Given the description of an element on the screen output the (x, y) to click on. 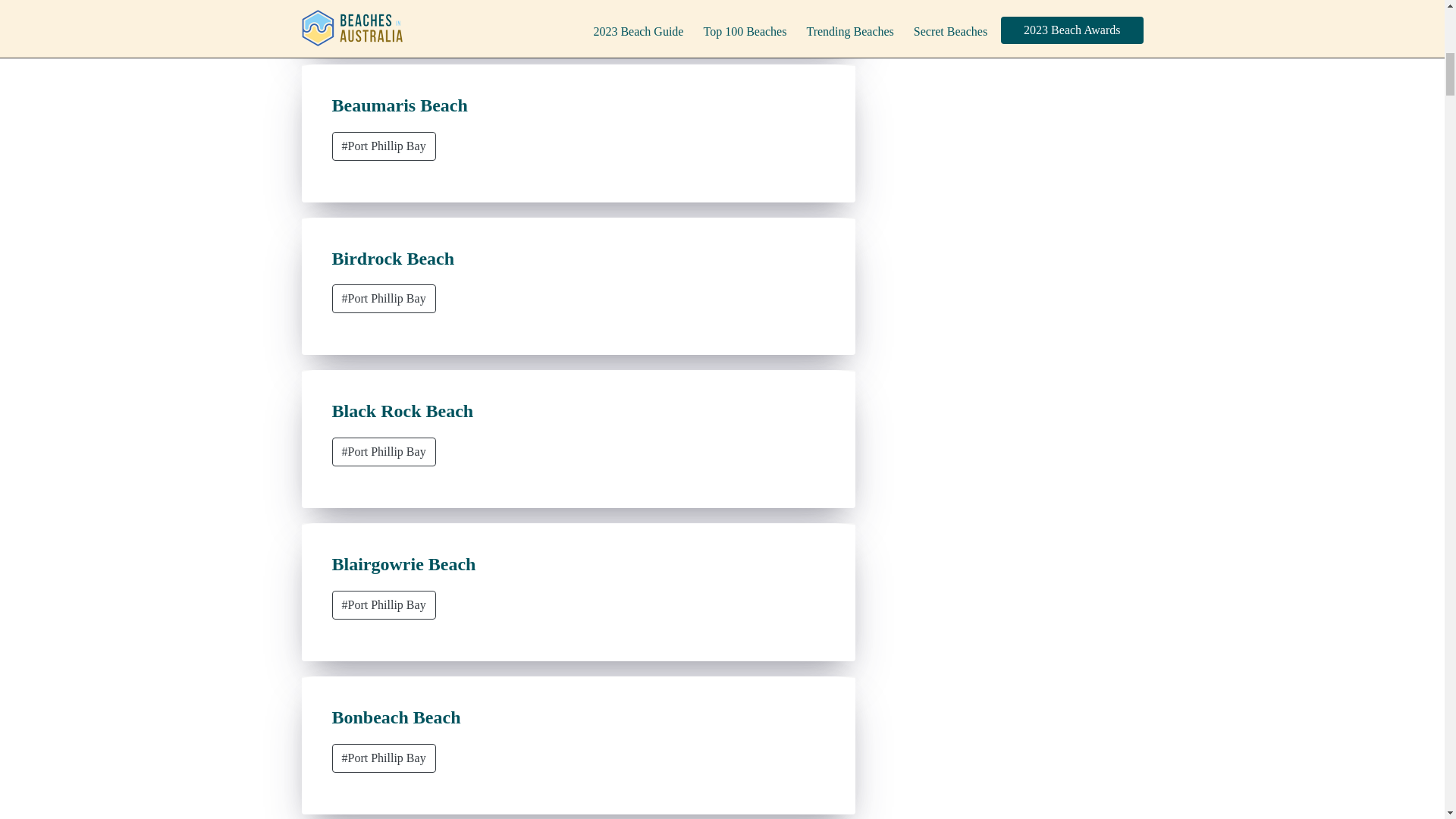
Bonbeach Beach (396, 717)
Black Rock Beach (402, 410)
Blairgowrie Beach (403, 564)
Beaumaris Beach (399, 105)
Birdrock Beach (392, 258)
